Given the description of an element on the screen output the (x, y) to click on. 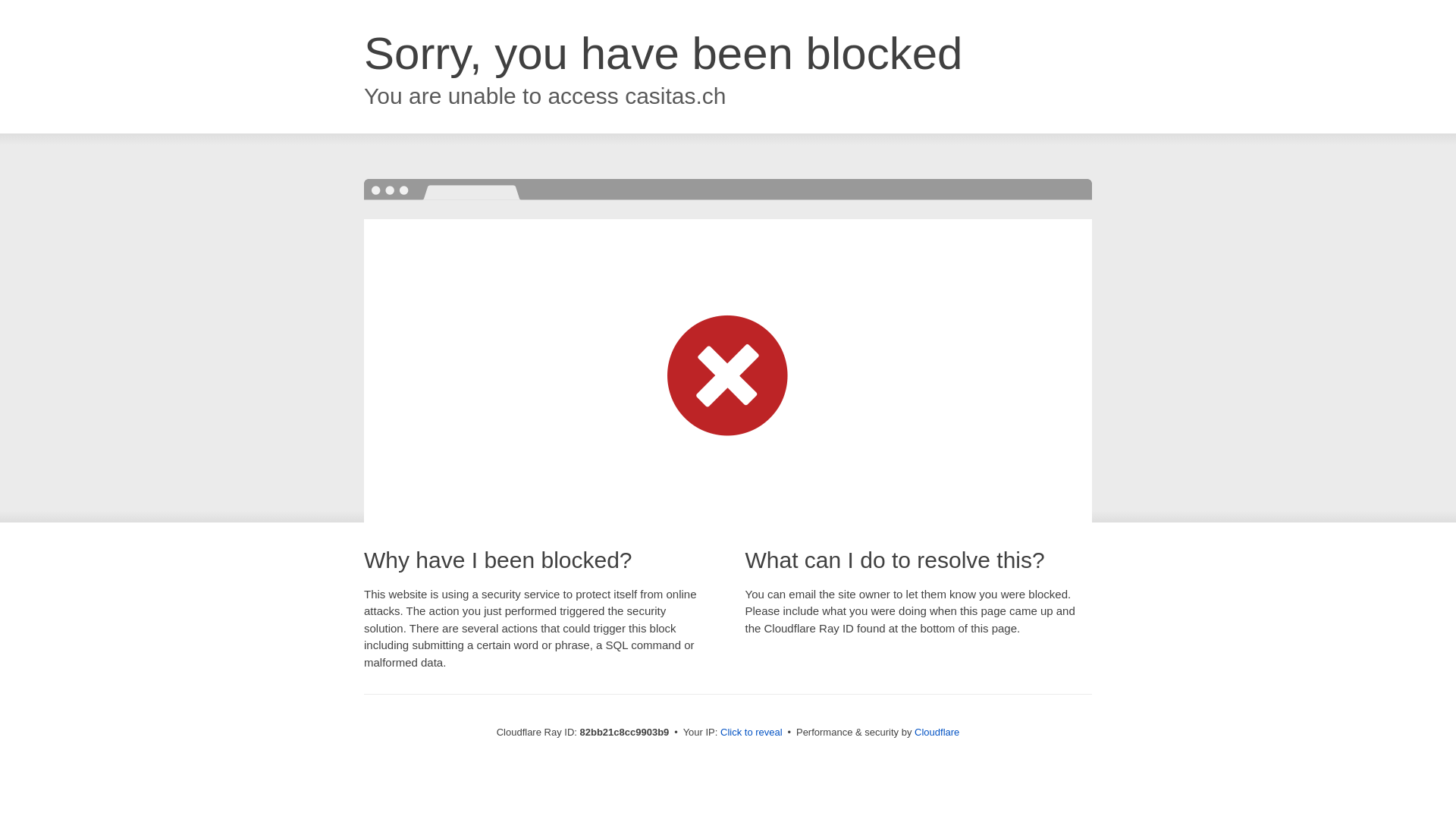
Cloudflare Element type: text (936, 731)
Click to reveal Element type: text (751, 732)
